Given the description of an element on the screen output the (x, y) to click on. 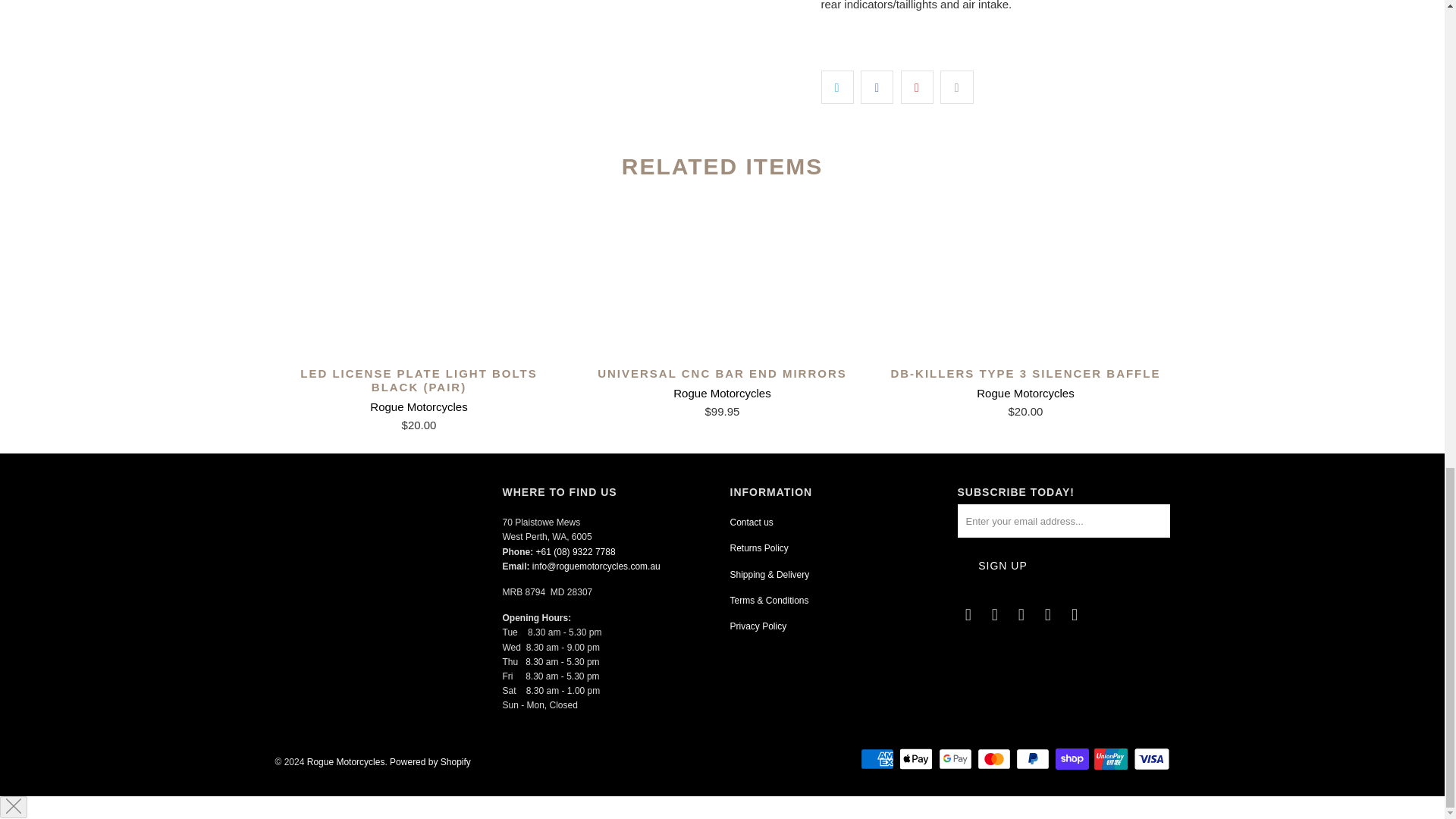
Google Pay (957, 758)
Email this to a friend (956, 87)
PayPal (1034, 758)
Rogue Motorcycles on Pinterest (1047, 615)
Share this on Pinterest (917, 87)
Rogue Motorcycles on Facebook (995, 615)
Visa (1150, 758)
Rogue Motorcycles on Instagram (1021, 615)
Email Rogue Motorcycles (967, 615)
Share this on Twitter (837, 87)
Union Pay (1112, 758)
Share this on Facebook (876, 87)
tel:0893227788 (575, 552)
Apple Pay (917, 758)
Shop Pay (1073, 758)
